Given the description of an element on the screen output the (x, y) to click on. 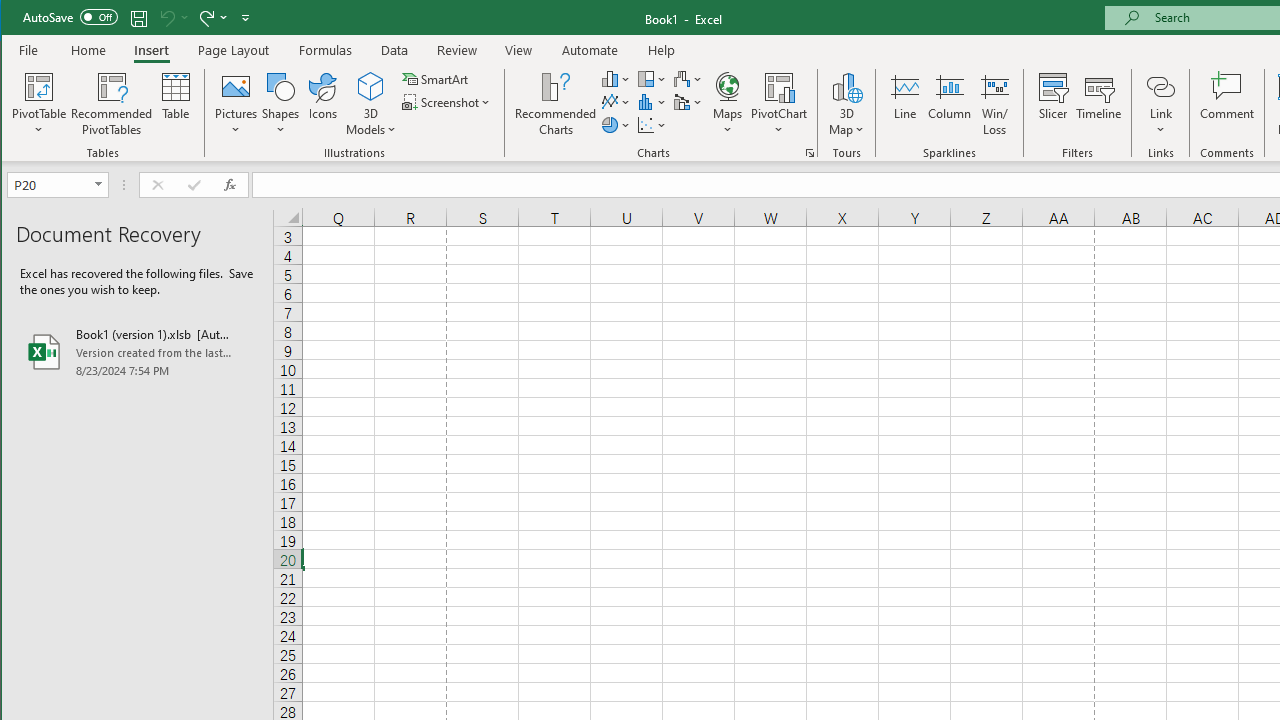
3D Map (846, 104)
Insert Column or Bar Chart (616, 78)
Maps (727, 104)
PivotChart (779, 86)
PivotTable (39, 104)
Insert Scatter (X, Y) or Bubble Chart (652, 124)
Book1 (version 1).xlsb  [AutoRecovered] (137, 352)
Recommended PivotTables (111, 104)
Insert Line or Area Chart (616, 101)
3D Models (371, 104)
